Given the description of an element on the screen output the (x, y) to click on. 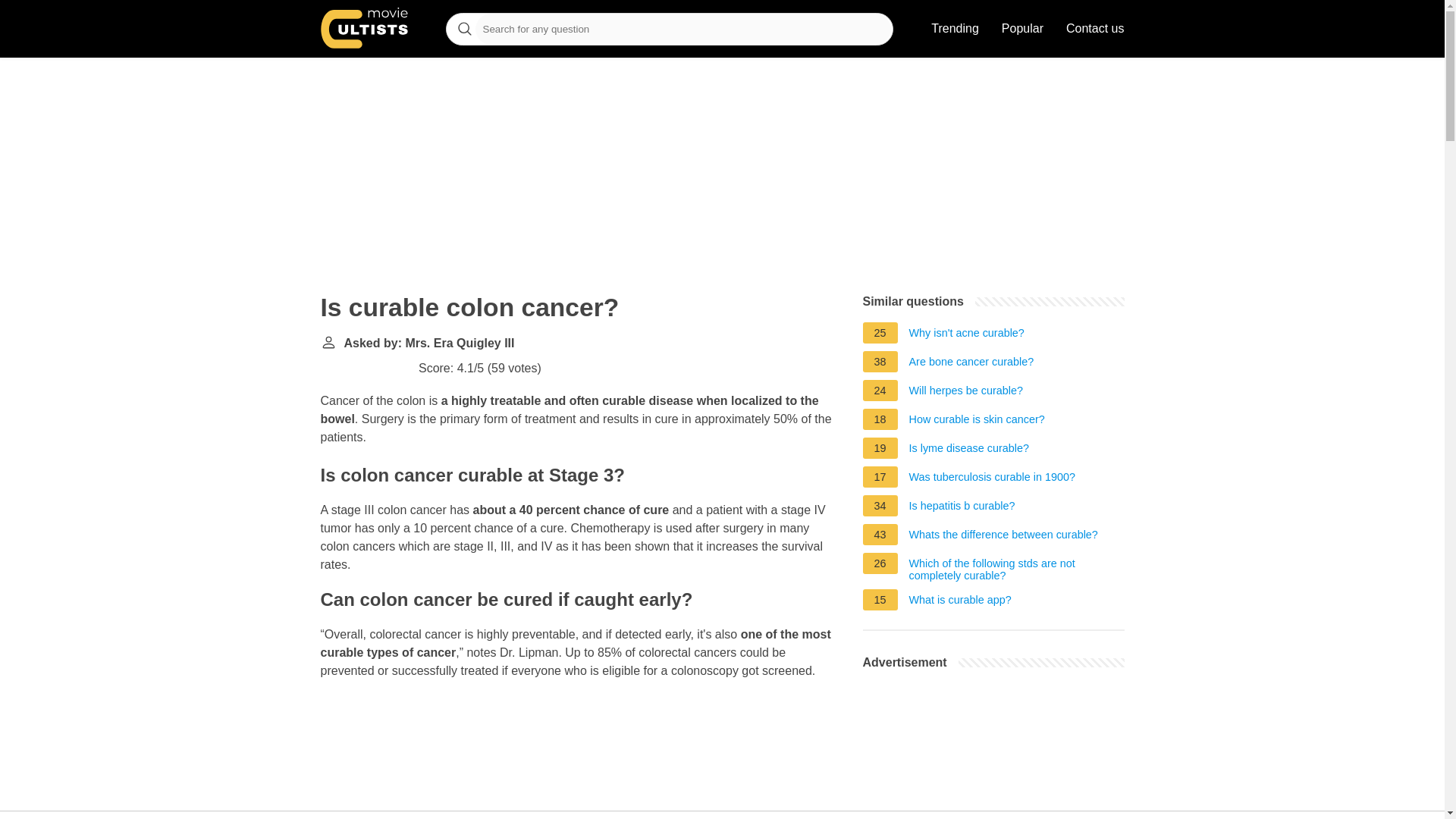
Contact us (1094, 28)
Is lyme disease curable? (968, 450)
Was tuberculosis curable in 1900? (991, 478)
Is hepatitis b curable? (961, 507)
Whats the difference between curable? (1002, 536)
What is curable app? (959, 601)
Why isn't acne curable? (966, 334)
Will herpes be curable? (965, 392)
Popular (1022, 28)
Which of the following stds are not completely curable? (1016, 569)
How curable is skin cancer? (976, 421)
Are bone cancer curable? (970, 363)
Trending (954, 28)
